Given the description of an element on the screen output the (x, y) to click on. 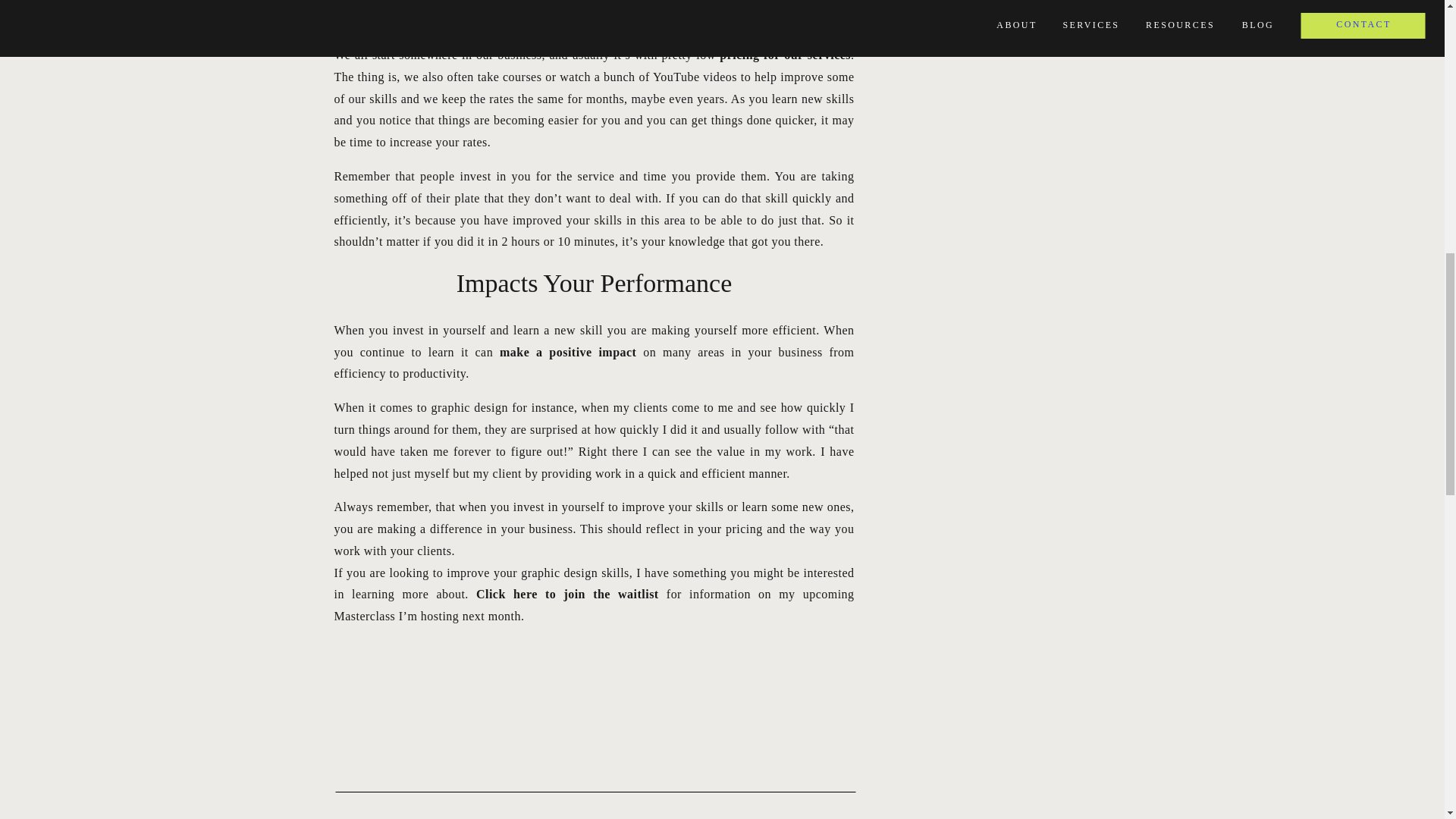
make a positive impact (567, 351)
pricing for our services (784, 54)
Click here to join the waitlist (567, 594)
